Given the description of an element on the screen output the (x, y) to click on. 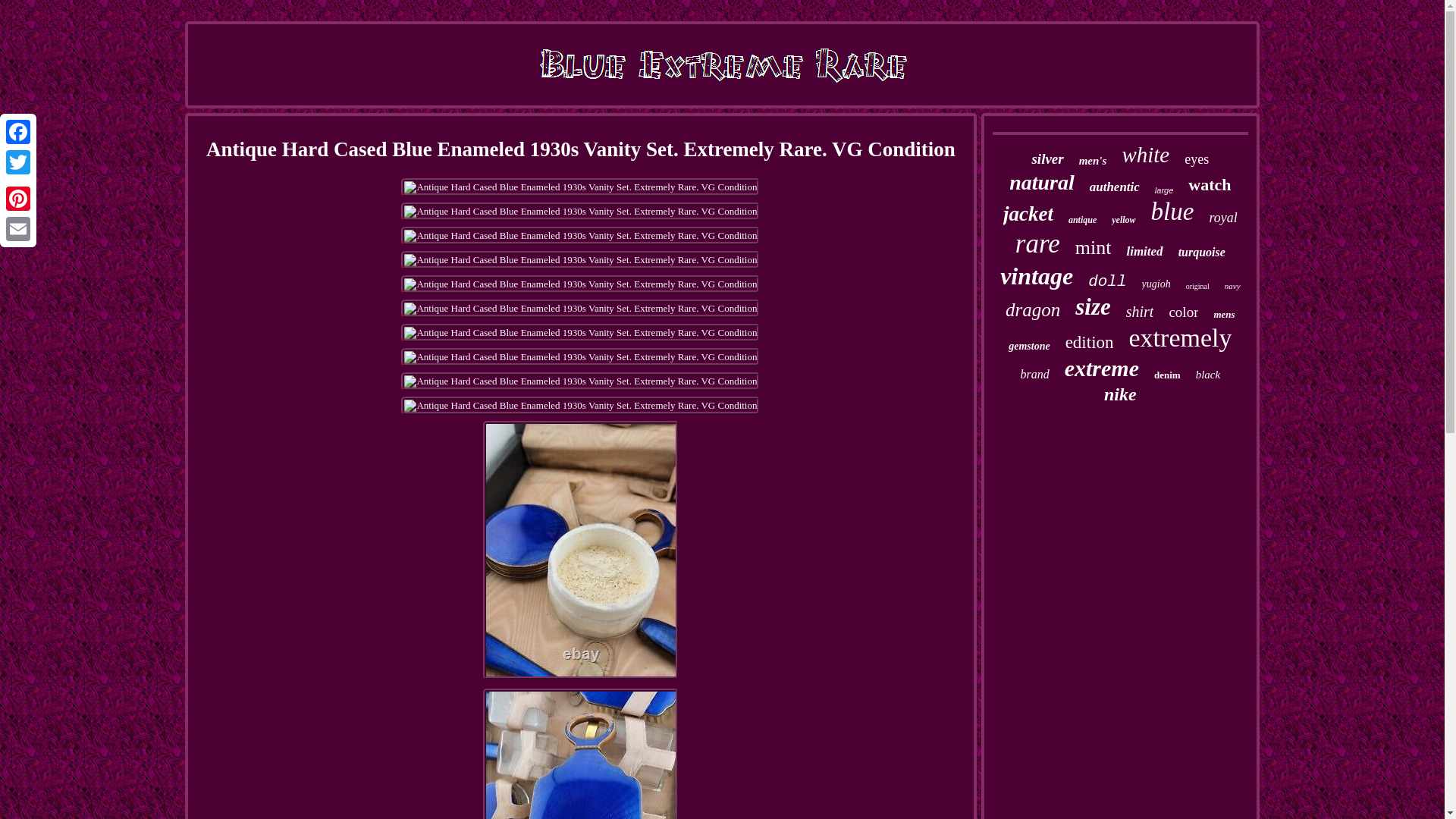
mens (1223, 314)
Twitter (17, 162)
watch (1209, 184)
original (1197, 285)
Email (17, 228)
blue (1172, 212)
yugioh (1155, 284)
white (1145, 154)
